Given the description of an element on the screen output the (x, y) to click on. 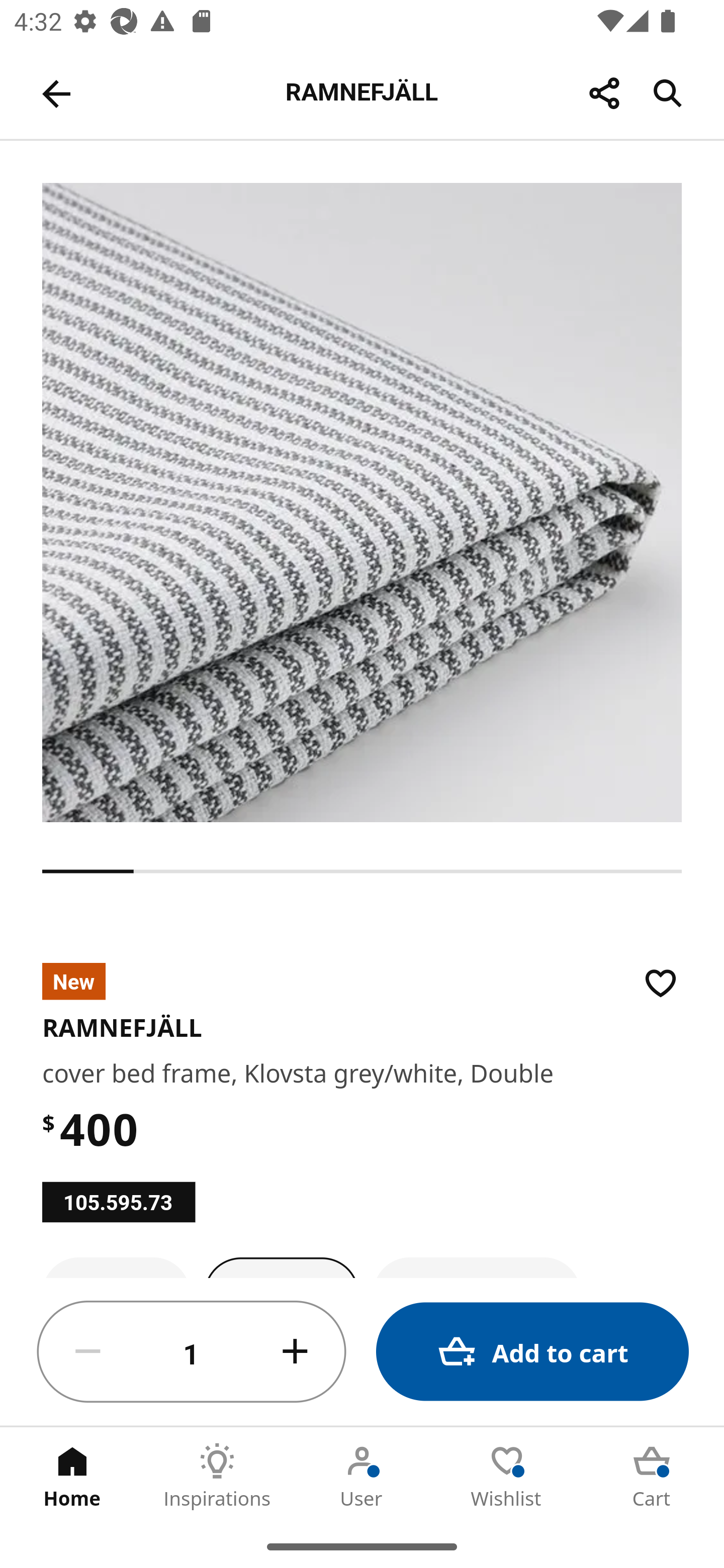
Add to cart (531, 1352)
1 (191, 1352)
Home
Tab 1 of 5 (72, 1476)
Inspirations
Tab 2 of 5 (216, 1476)
User
Tab 3 of 5 (361, 1476)
Wishlist
Tab 4 of 5 (506, 1476)
Cart
Tab 5 of 5 (651, 1476)
